Given the description of an element on the screen output the (x, y) to click on. 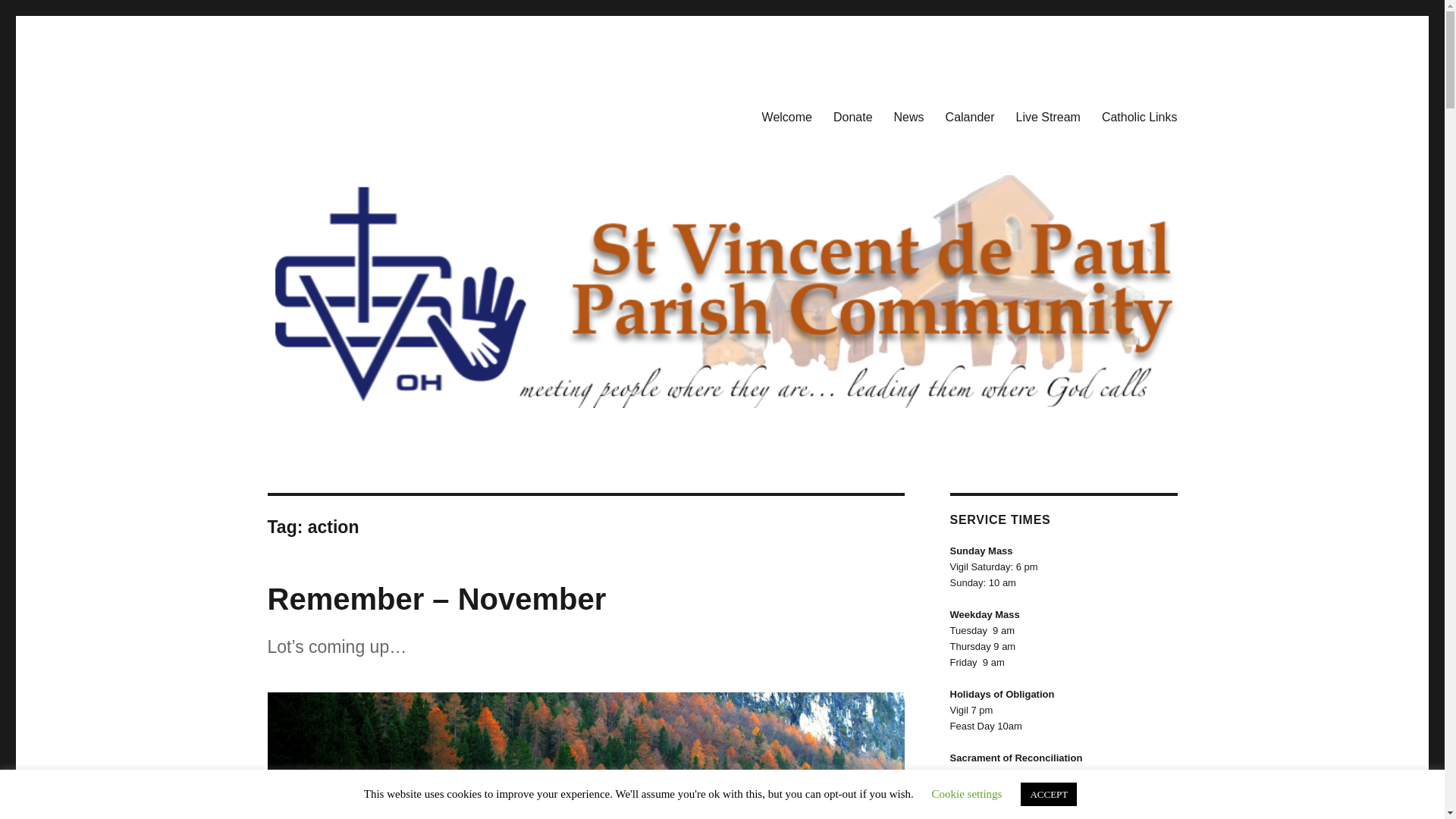
Donate (852, 116)
News (908, 116)
Catholic Links (1139, 116)
Calander (970, 116)
Live Stream (1048, 116)
Welcome (786, 116)
